Given the description of an element on the screen output the (x, y) to click on. 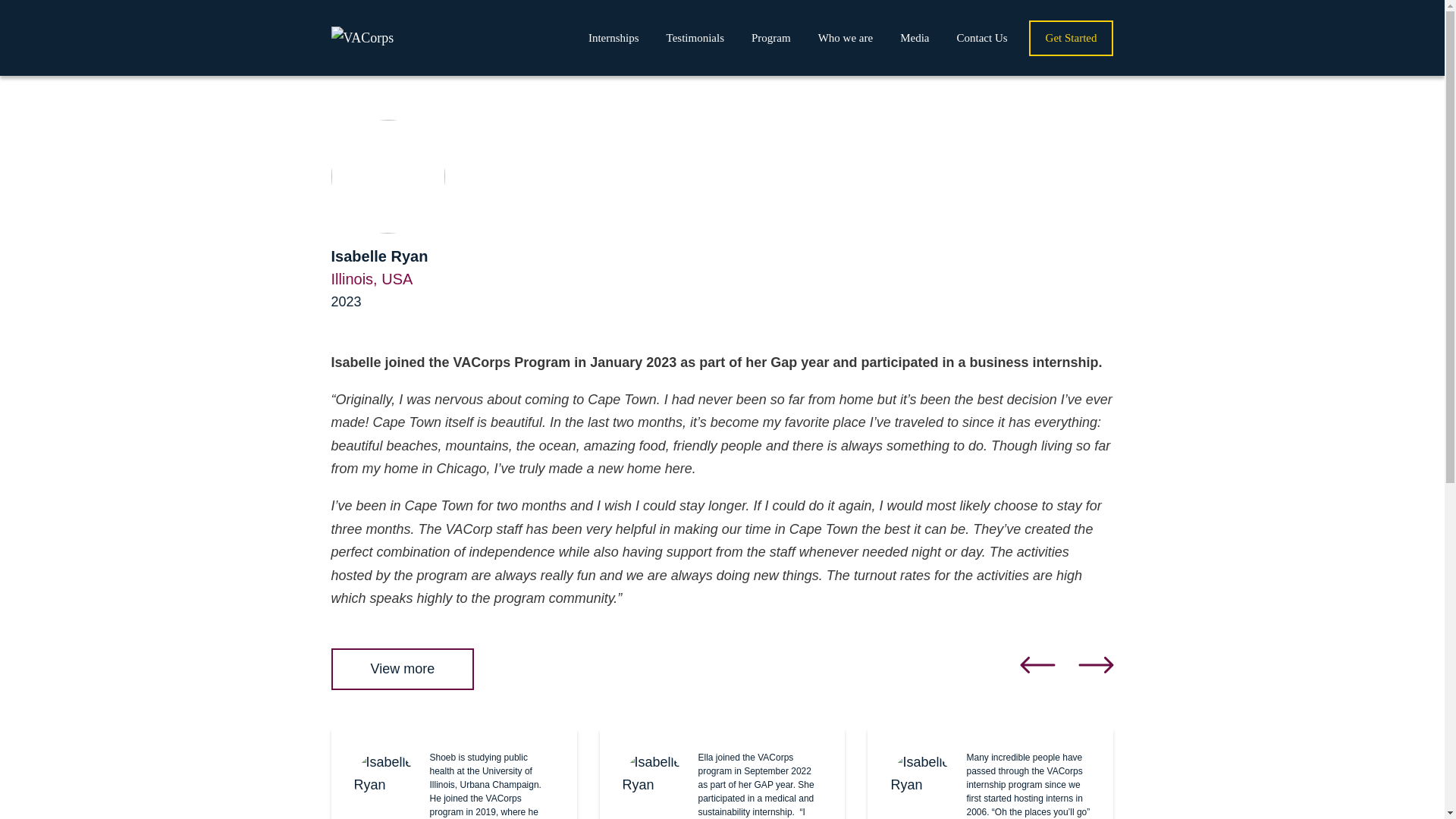
Program (770, 38)
Who we are (845, 38)
Testimonials (695, 38)
Internships (613, 38)
